Given the description of an element on the screen output the (x, y) to click on. 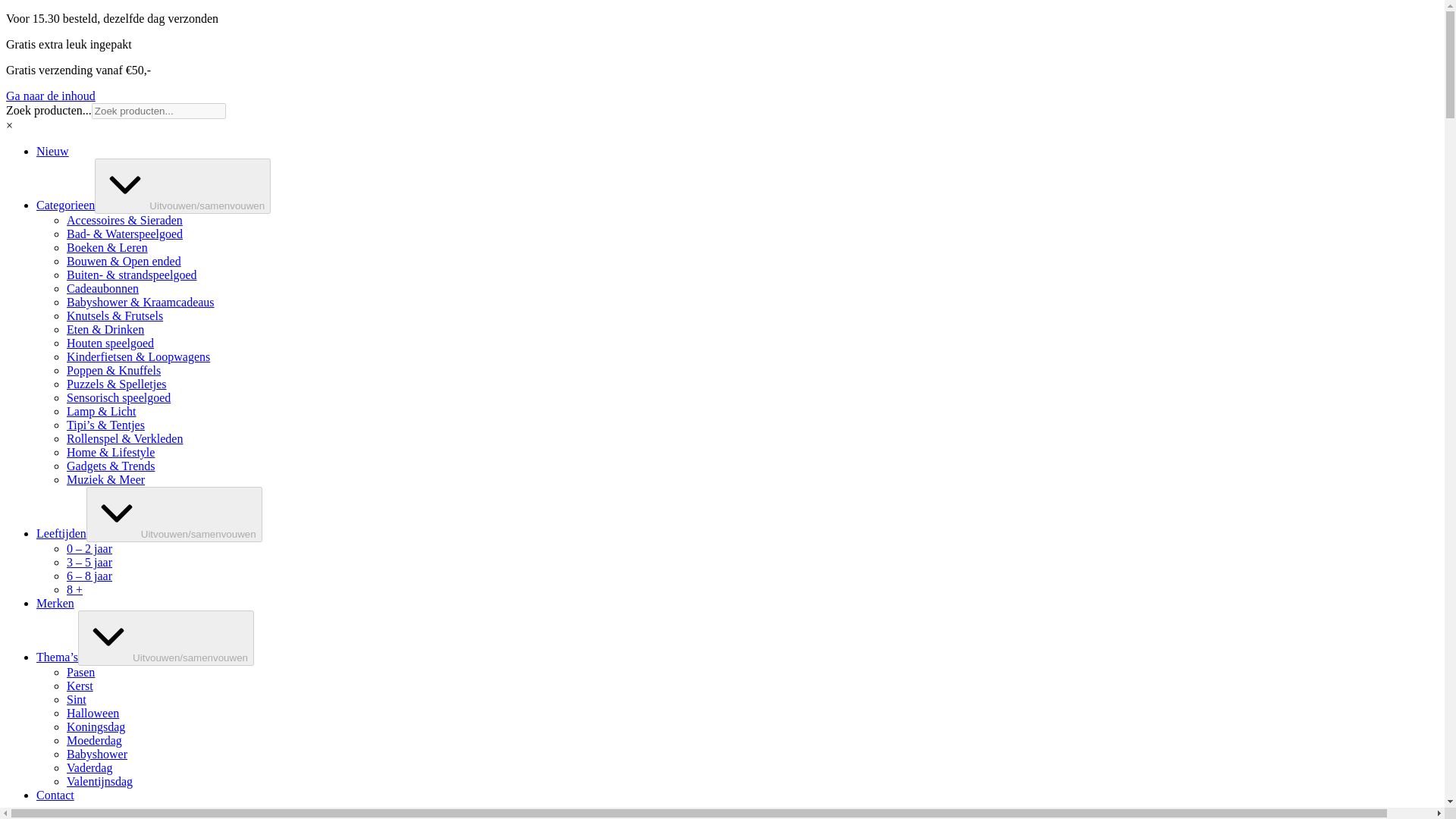
Pasen (80, 671)
Sensorisch speelgoed (118, 397)
Houten speelgoed (110, 342)
Ga naar de inhoud (50, 95)
Categorieen (65, 205)
Koningsdag (95, 726)
Sint (75, 698)
Nieuw (52, 151)
Halloween (92, 712)
Leeftijden (60, 533)
